Given the description of an element on the screen output the (x, y) to click on. 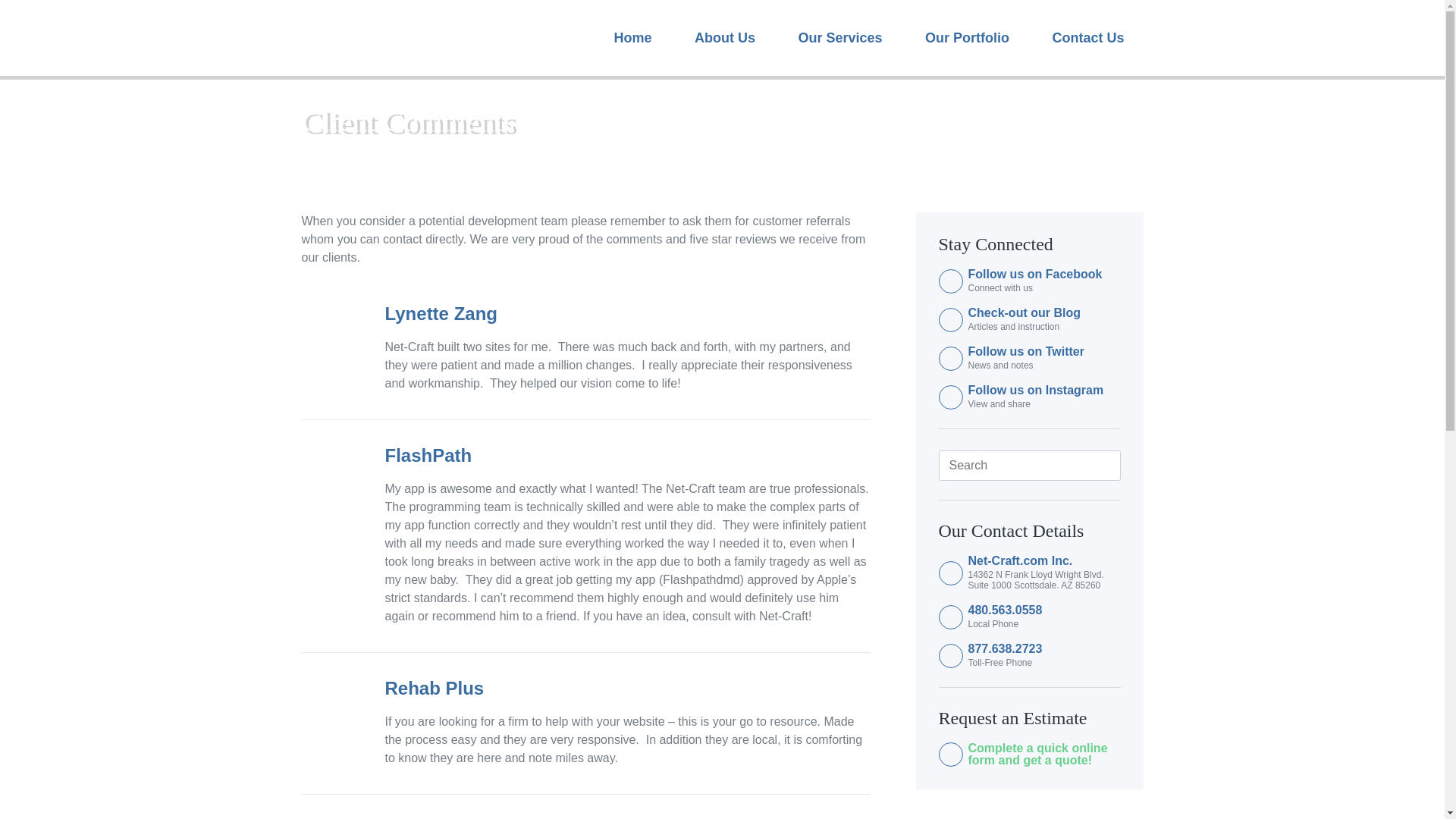
Our Portfolio (966, 38)
Follow us on Facebook (1043, 274)
Net-Craft.com (402, 38)
About Us (724, 38)
Check-out our Blog (1043, 313)
Our Services (839, 38)
Follow us on Twitter (1043, 351)
Home (633, 38)
877.638.2723 (1043, 648)
480.563.0558 (1043, 610)
Contact Us (1087, 38)
Follow us on Instagram (1043, 390)
Net-Craft.com Inc. (1043, 561)
Complete a quick online form and get a quote! (1043, 754)
